Given the description of an element on the screen output the (x, y) to click on. 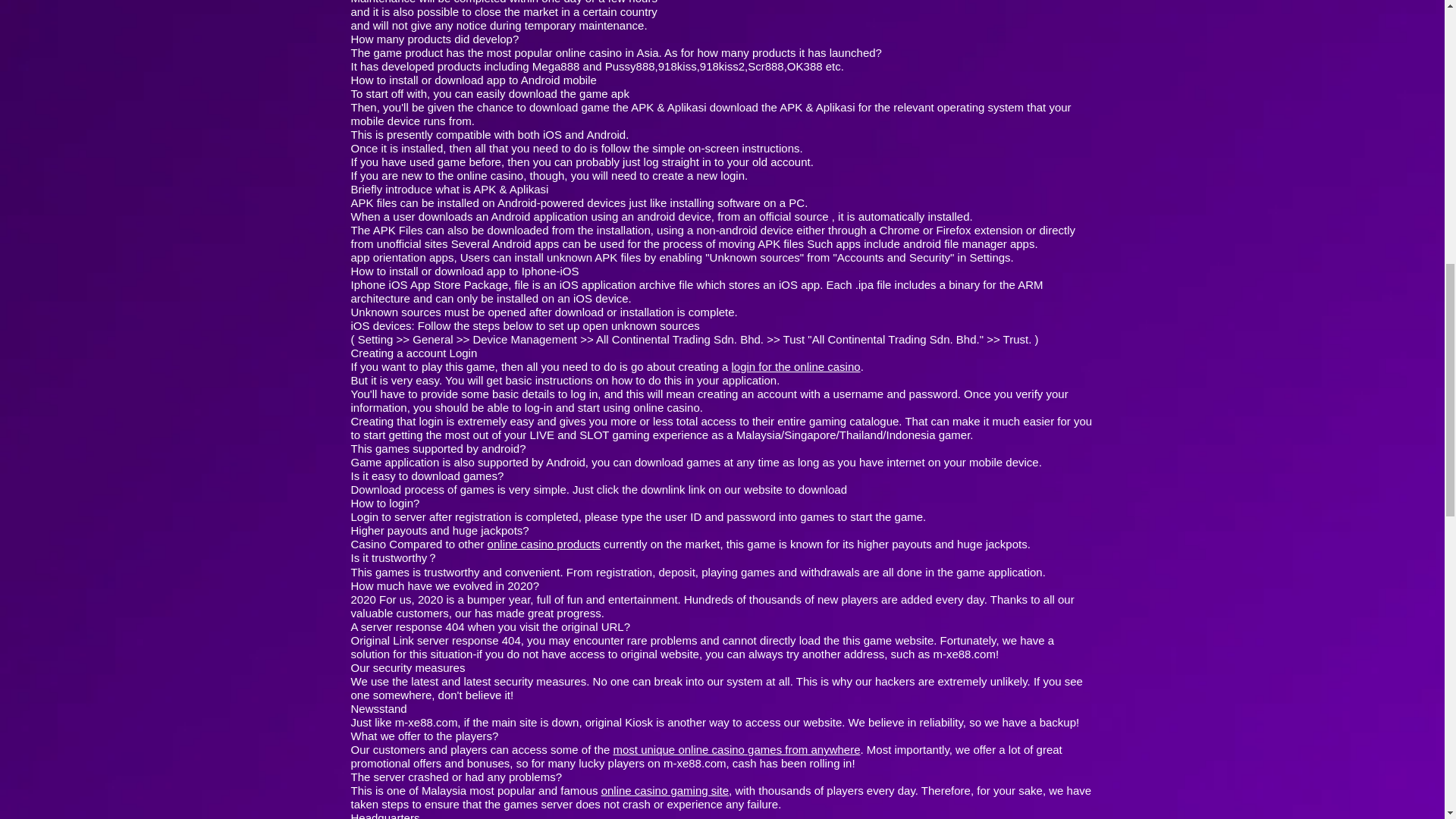
most unique online casino games from anywhere (736, 748)
login for the online casino (795, 366)
online casino gaming site (665, 789)
online casino products (543, 543)
